Given the description of an element on the screen output the (x, y) to click on. 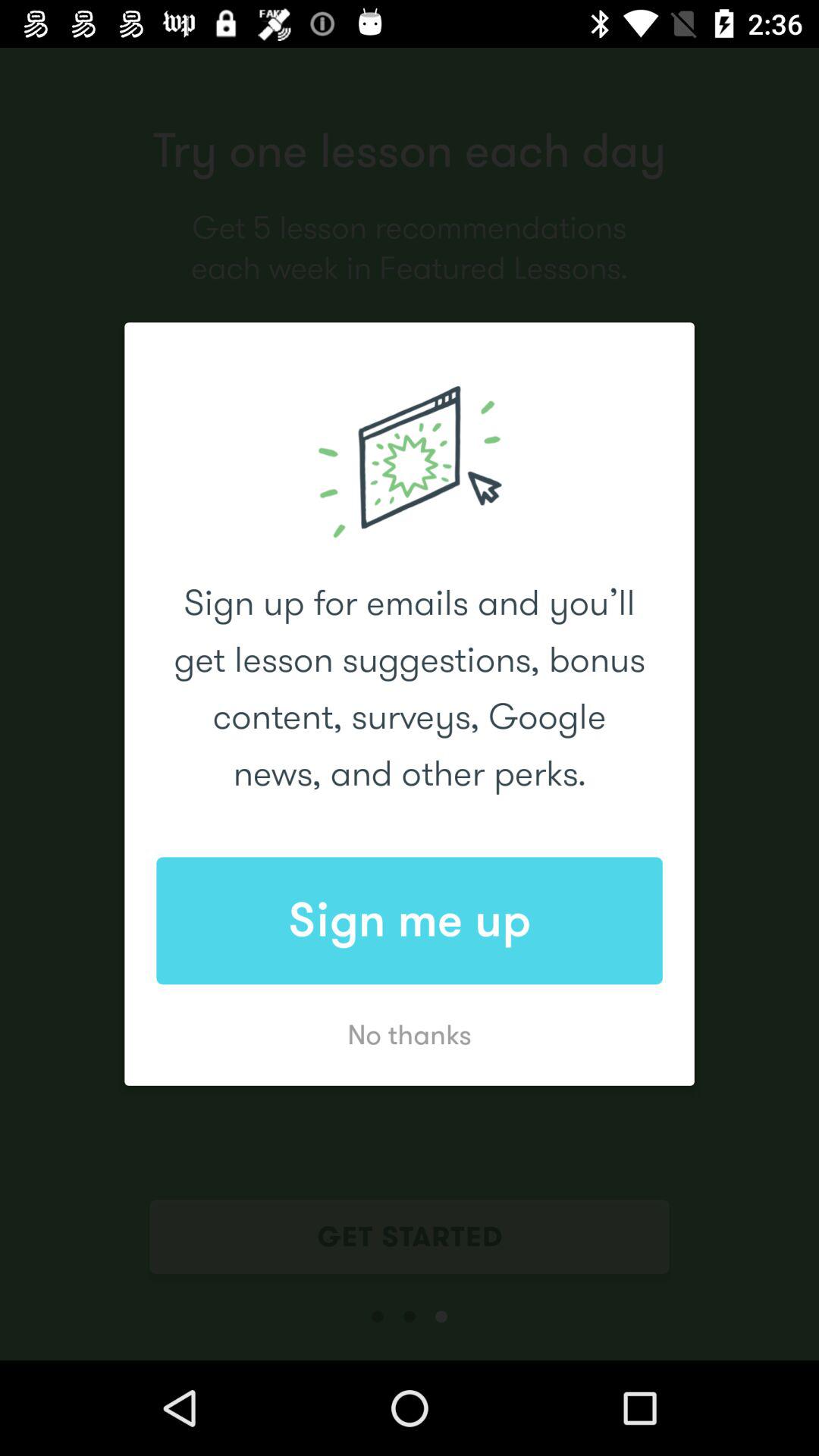
flip until no thanks app (409, 1034)
